Given the description of an element on the screen output the (x, y) to click on. 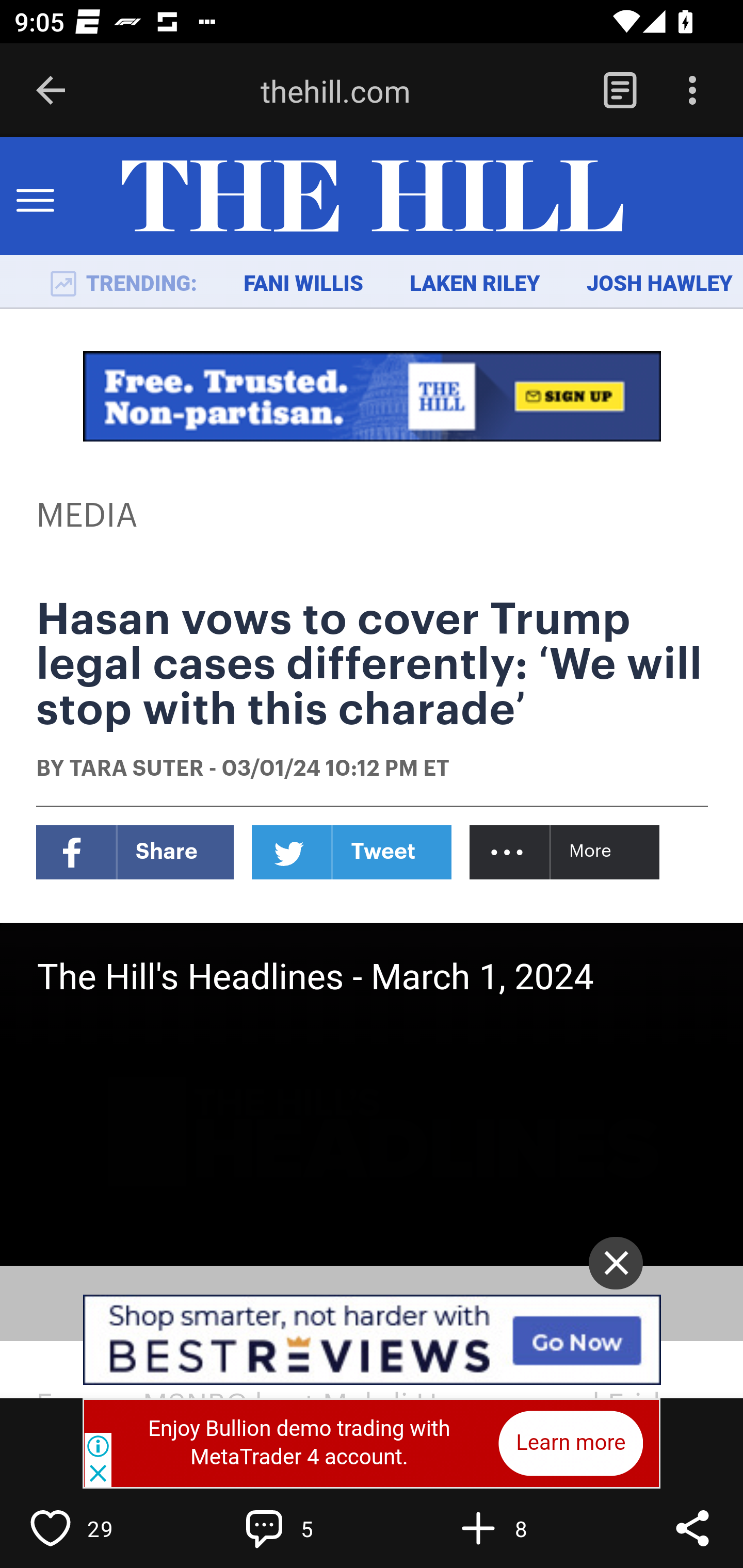
Back (50, 90)
Reader View (619, 90)
Options (692, 90)
Toggle Menu (34, 196)
TheHill.com (371, 196)
FANI WILLIS (303, 284)
LAKEN RILEY (474, 284)
JOSH HAWLEY (659, 284)
signup (372, 395)
MEDIA (87, 516)
TARA SUTER (135, 769)
Facebook Share Facebook Share (135, 852)
Twitter Tweet Twitter Tweet (352, 852)
... More (565, 852)
✕ (616, 1262)
Like 29 (93, 1528)
Write a comment… 5 (307, 1528)
Flip into Magazine 8 (521, 1528)
Share (692, 1528)
